Given the description of an element on the screen output the (x, y) to click on. 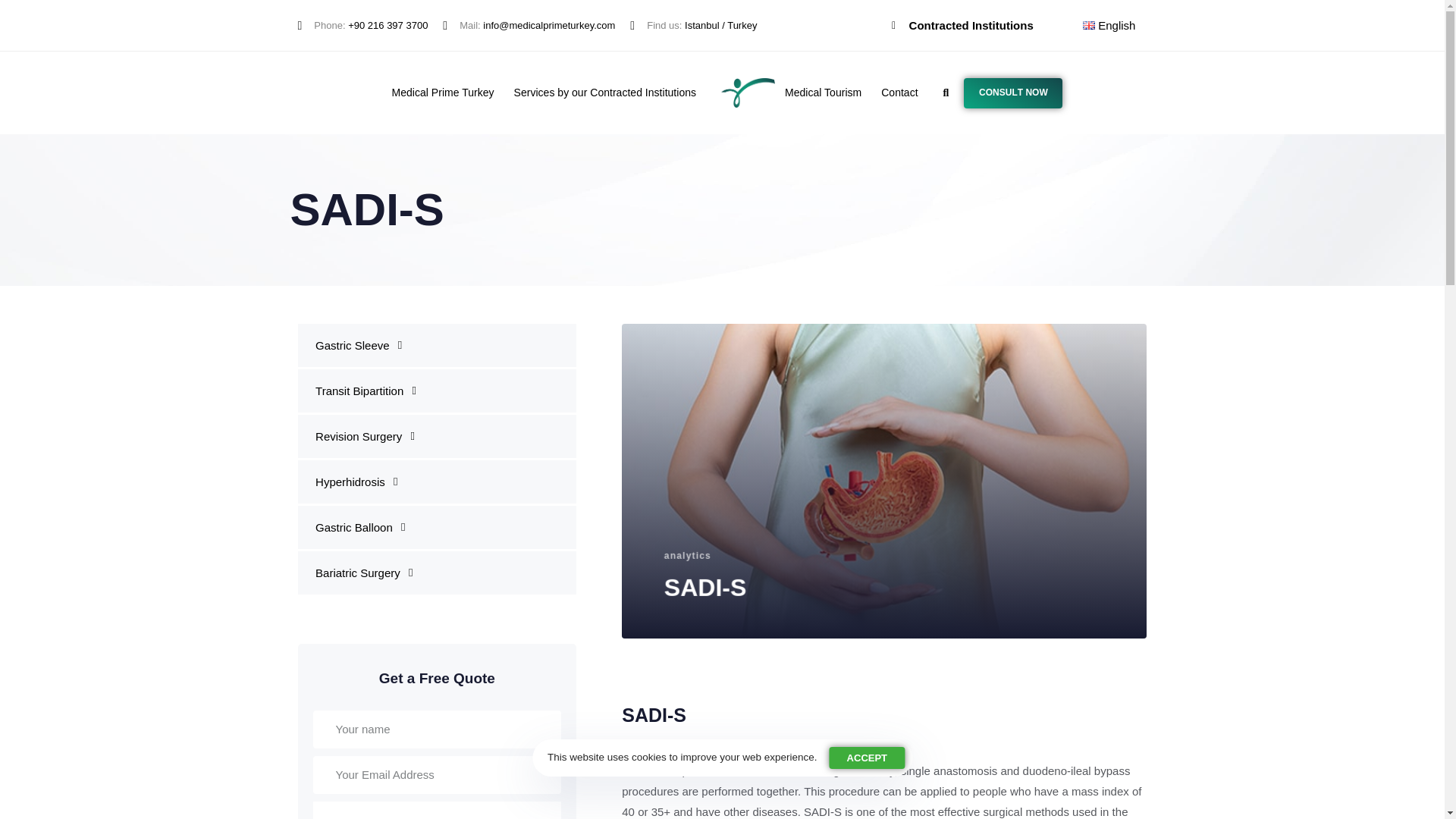
English (1106, 25)
Services by our Contracted Institutions (604, 92)
Medical Tourism (822, 92)
Medical Prime Turkey (1012, 92)
Contracted Institutions (442, 92)
